Given the description of an element on the screen output the (x, y) to click on. 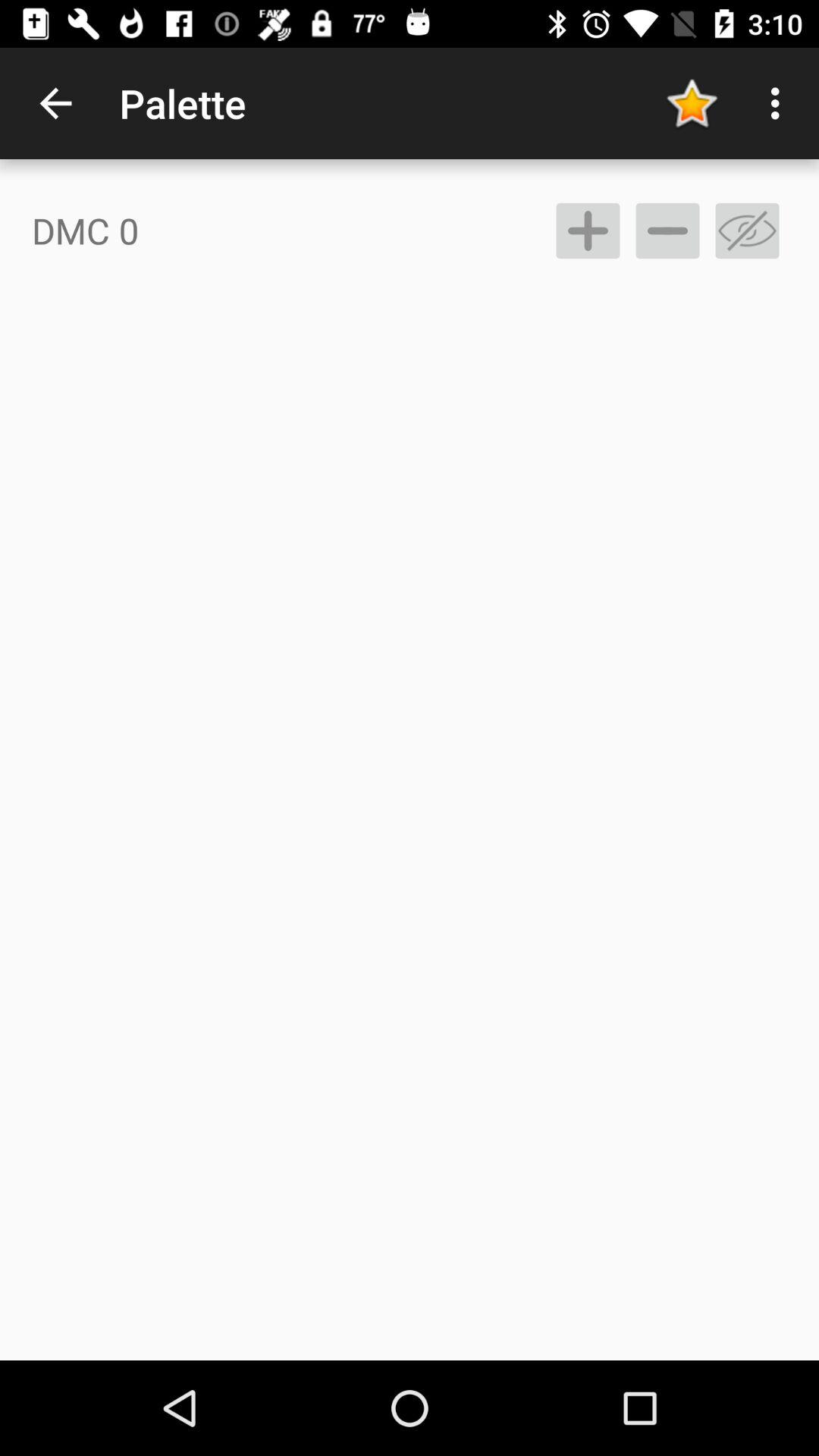
turn off camera (747, 230)
